Given the description of an element on the screen output the (x, y) to click on. 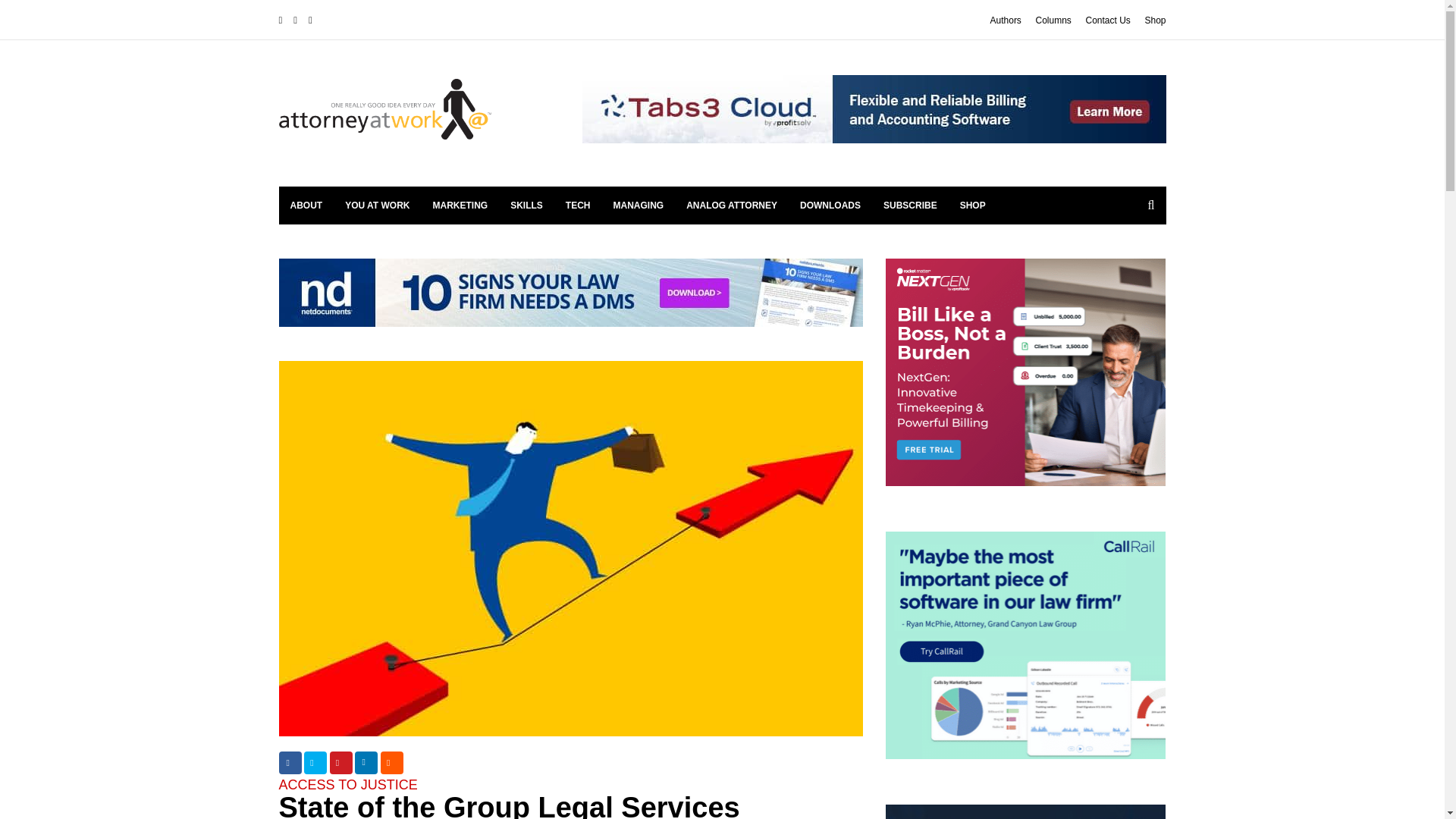
TECH (578, 205)
MANAGING (638, 205)
YOU AT WORK (376, 205)
Contact Us (1106, 20)
Shop (1155, 20)
MARKETING (460, 205)
You At Work (376, 205)
SKILLS (526, 205)
About (306, 205)
Authors (1006, 20)
